Given the description of an element on the screen output the (x, y) to click on. 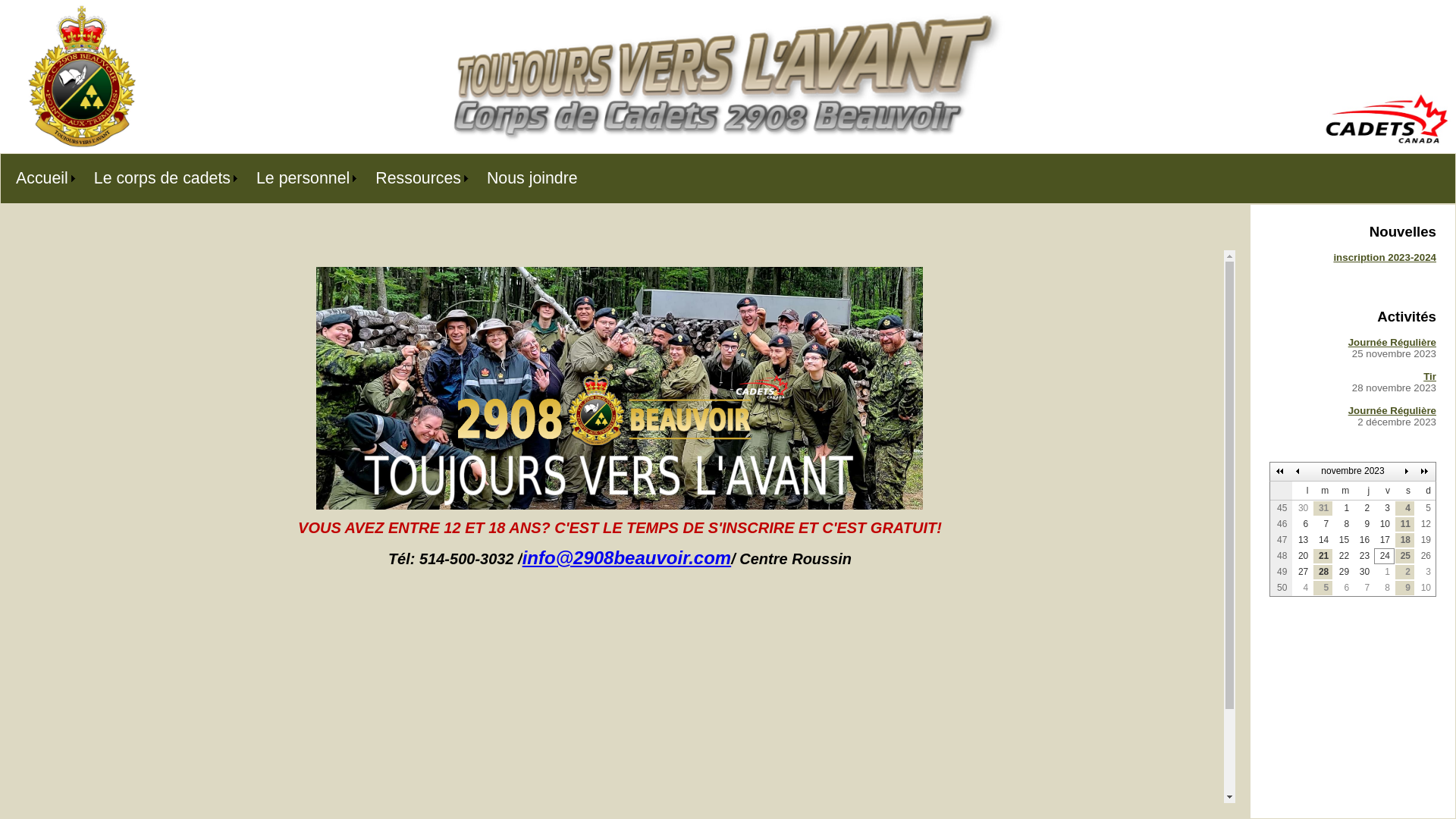
9 Element type: text (1404, 587)
15 Element type: text (1342, 540)
inscription 2023-2024 Element type: text (1384, 257)
6 Element type: text (1301, 524)
25 Element type: text (1404, 556)
23 Element type: text (1363, 556)
12 Element type: text (1424, 524)
8 Element type: text (1342, 524)
7 Element type: text (1322, 524)
13 Element type: text (1301, 540)
8 Element type: text (1383, 587)
Le personnel Element type: text (300, 178)
24 Element type: text (1383, 556)
11 Element type: text (1404, 524)
Tir Element type: text (1429, 376)
31 Element type: text (1322, 508)
27 Element type: text (1301, 571)
29 Element type: text (1342, 571)
26 Element type: text (1424, 556)
30 Element type: text (1301, 508)
1 Element type: text (1383, 571)
19 Element type: text (1424, 540)
20 Element type: text (1301, 556)
1 Element type: text (1342, 508)
2 Element type: text (1363, 508)
17 Element type: text (1383, 540)
7 Element type: text (1363, 587)
5 Element type: text (1322, 587)
3 Element type: text (1383, 508)
4 Element type: text (1404, 508)
<< Element type: text (1280, 470)
4 Element type: text (1301, 587)
21 Element type: text (1322, 556)
< Element type: text (1297, 470)
5 Element type: text (1424, 508)
14 Element type: text (1322, 540)
6 Element type: text (1342, 587)
10 Element type: text (1383, 524)
<< Element type: text (1424, 470)
28 Element type: text (1322, 571)
22 Element type: text (1342, 556)
3 Element type: text (1424, 571)
Accueil Element type: text (39, 178)
Ressources Element type: text (415, 178)
9 Element type: text (1363, 524)
info@2908beauvoir.com Element type: text (626, 557)
30 Element type: text (1363, 571)
2 Element type: text (1404, 571)
> Element type: text (1407, 470)
Nous joindre Element type: text (532, 178)
18 Element type: text (1404, 540)
10 Element type: text (1424, 587)
16 Element type: text (1363, 540)
Le corps de cadets Element type: text (159, 178)
